Given the description of an element on the screen output the (x, y) to click on. 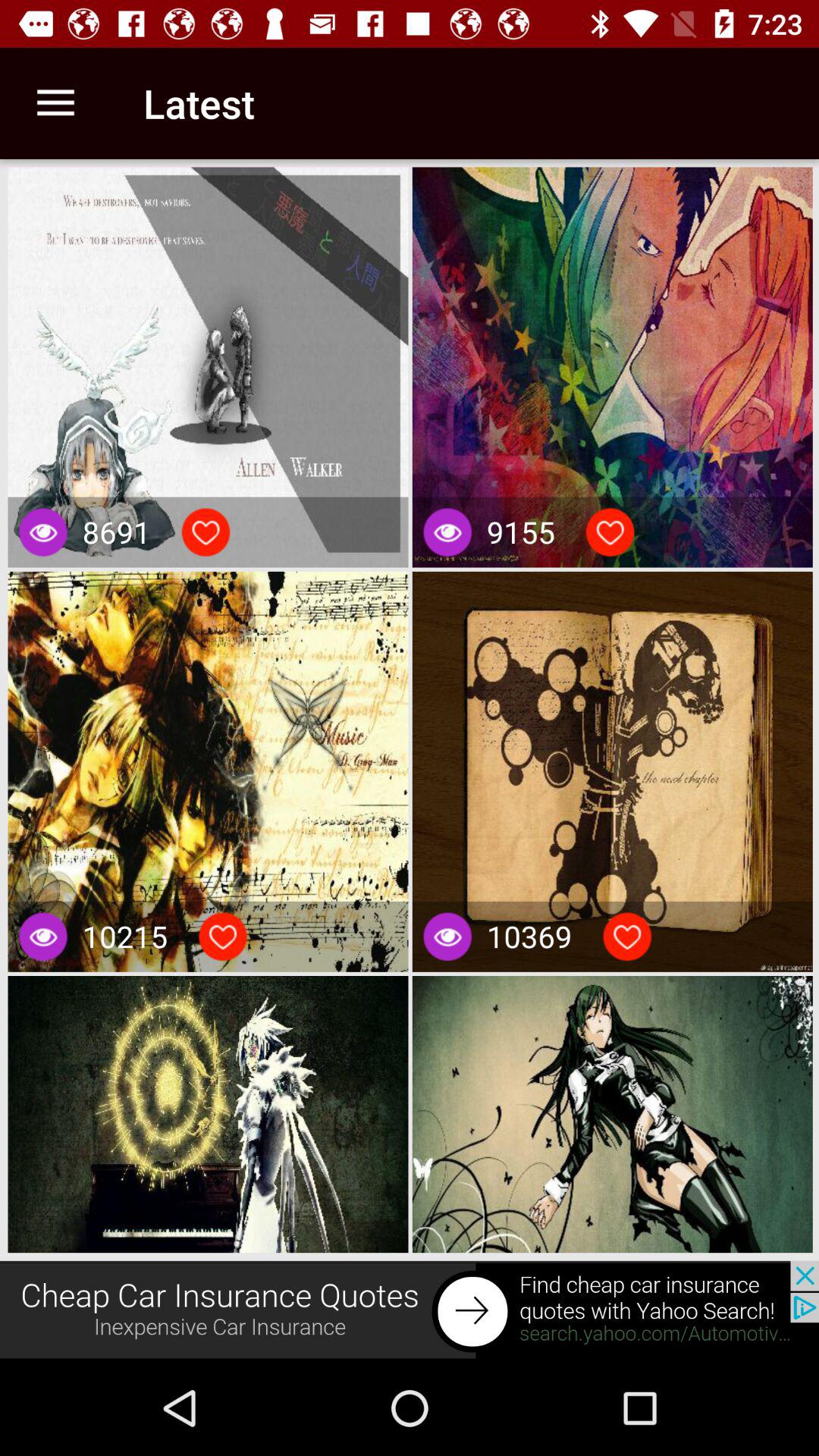
advertisement page (409, 1310)
